Given the description of an element on the screen output the (x, y) to click on. 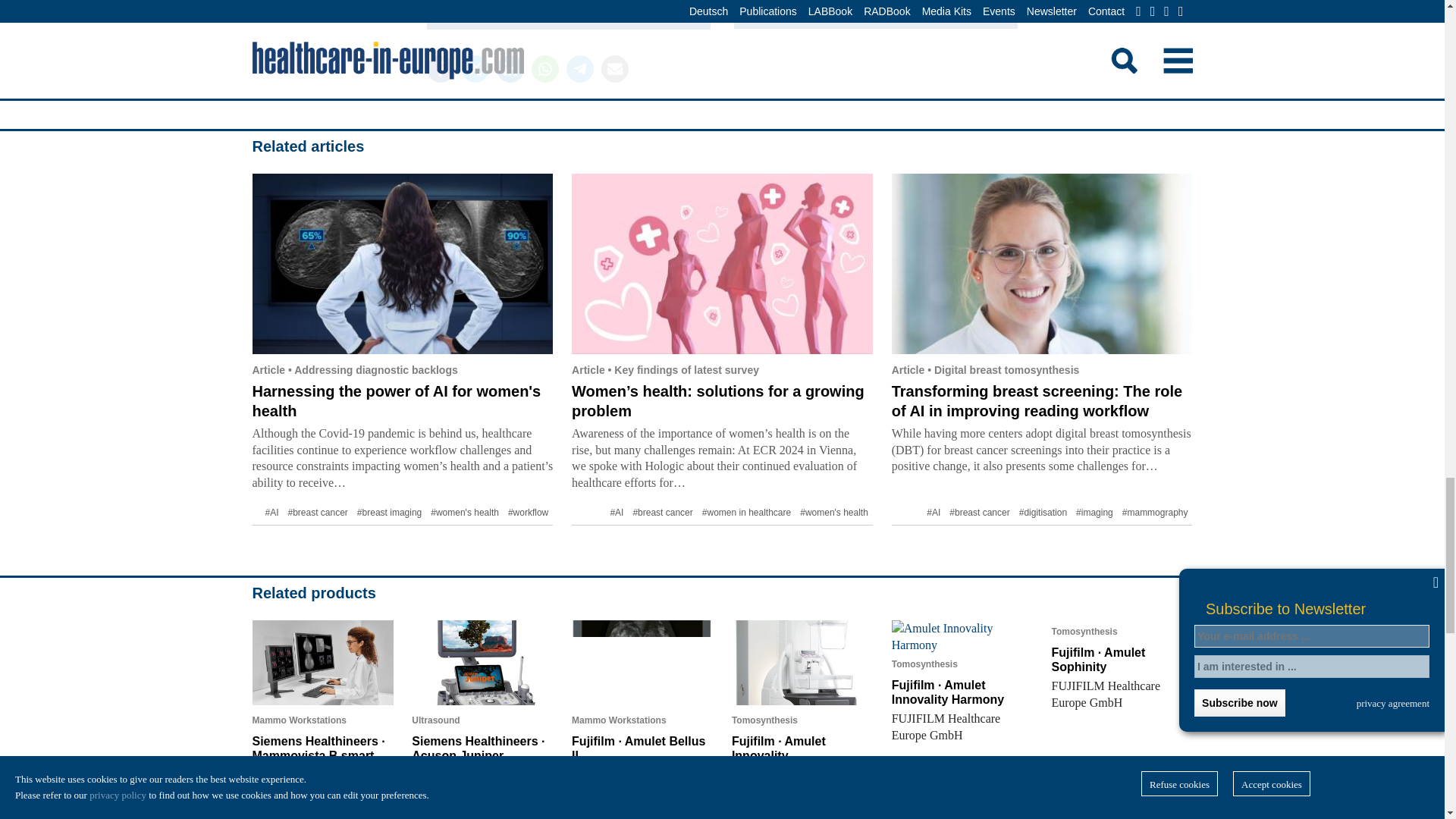
Share on facebook (439, 68)
Share via e-mail (613, 68)
Read all latest stories (875, 14)
Share on Linked-in (509, 68)
Harnessing the power of AI for women's health (395, 401)
Harnessing the power of AI for women's health (402, 263)
Share on WhatsApp (544, 68)
Share on twitter (474, 68)
